Given the description of an element on the screen output the (x, y) to click on. 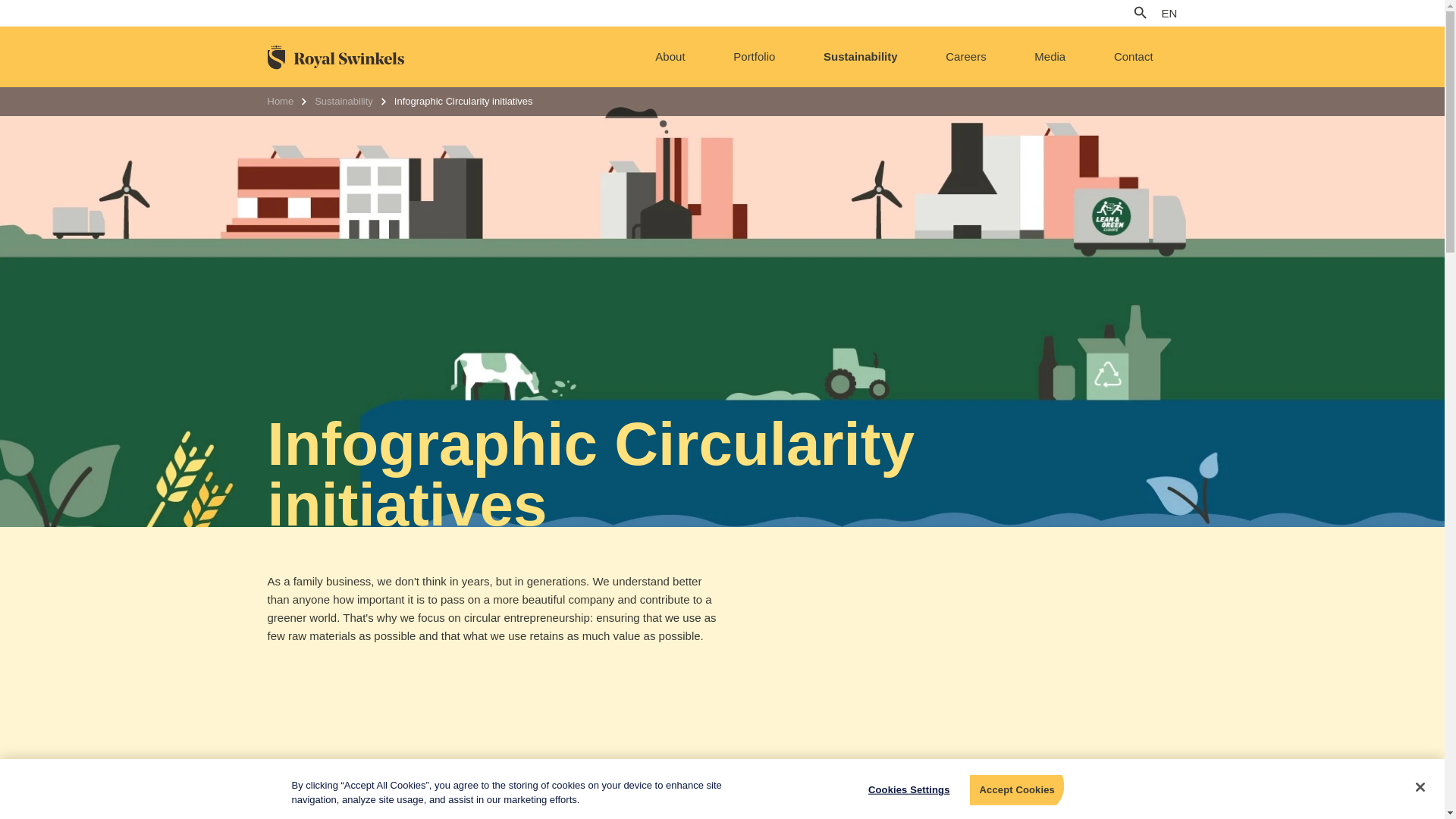
Careers (965, 56)
About (669, 56)
Sustainability (860, 56)
Portfolio (754, 56)
